Given the description of an element on the screen output the (x, y) to click on. 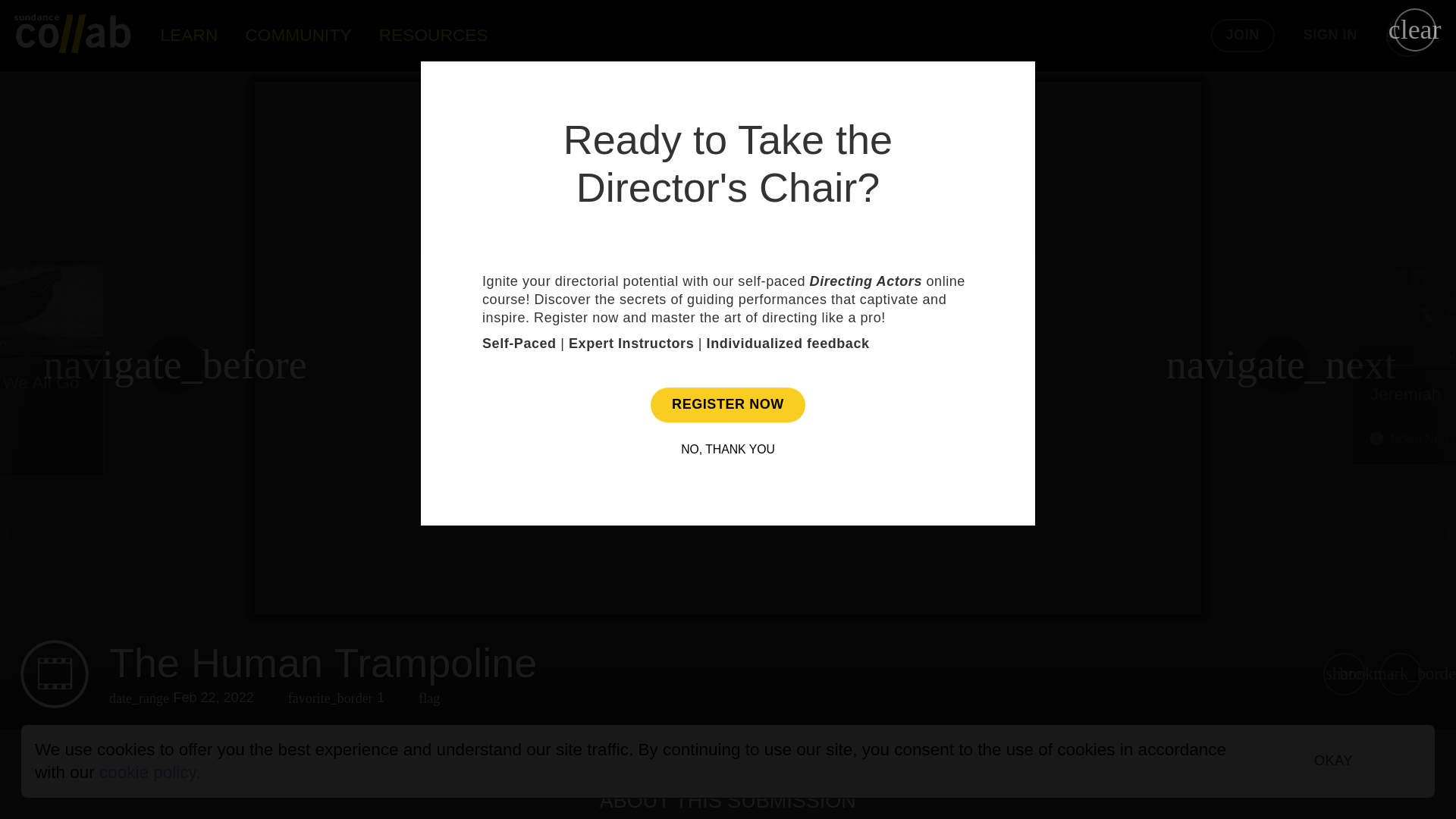
RESOURCES (433, 35)
cookie policy. (149, 772)
OKAY (1333, 761)
LEARN (189, 35)
Search (1407, 35)
SIGN IN (1330, 35)
JOIN (1243, 35)
COMMUNITY (298, 35)
VIEW VIDEO (727, 425)
